Given the description of an element on the screen output the (x, y) to click on. 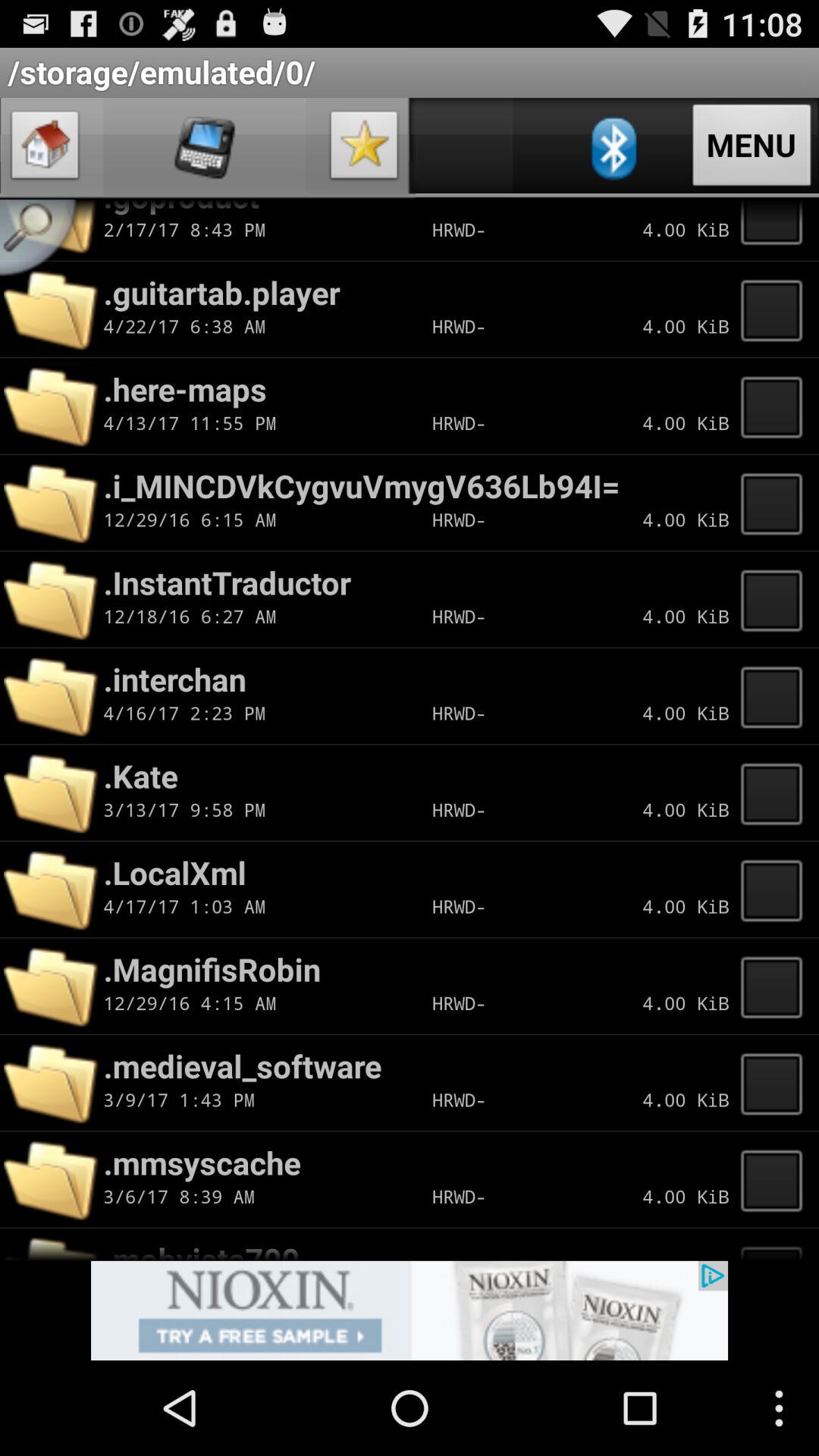
outline (776, 1244)
